Given the description of an element on the screen output the (x, y) to click on. 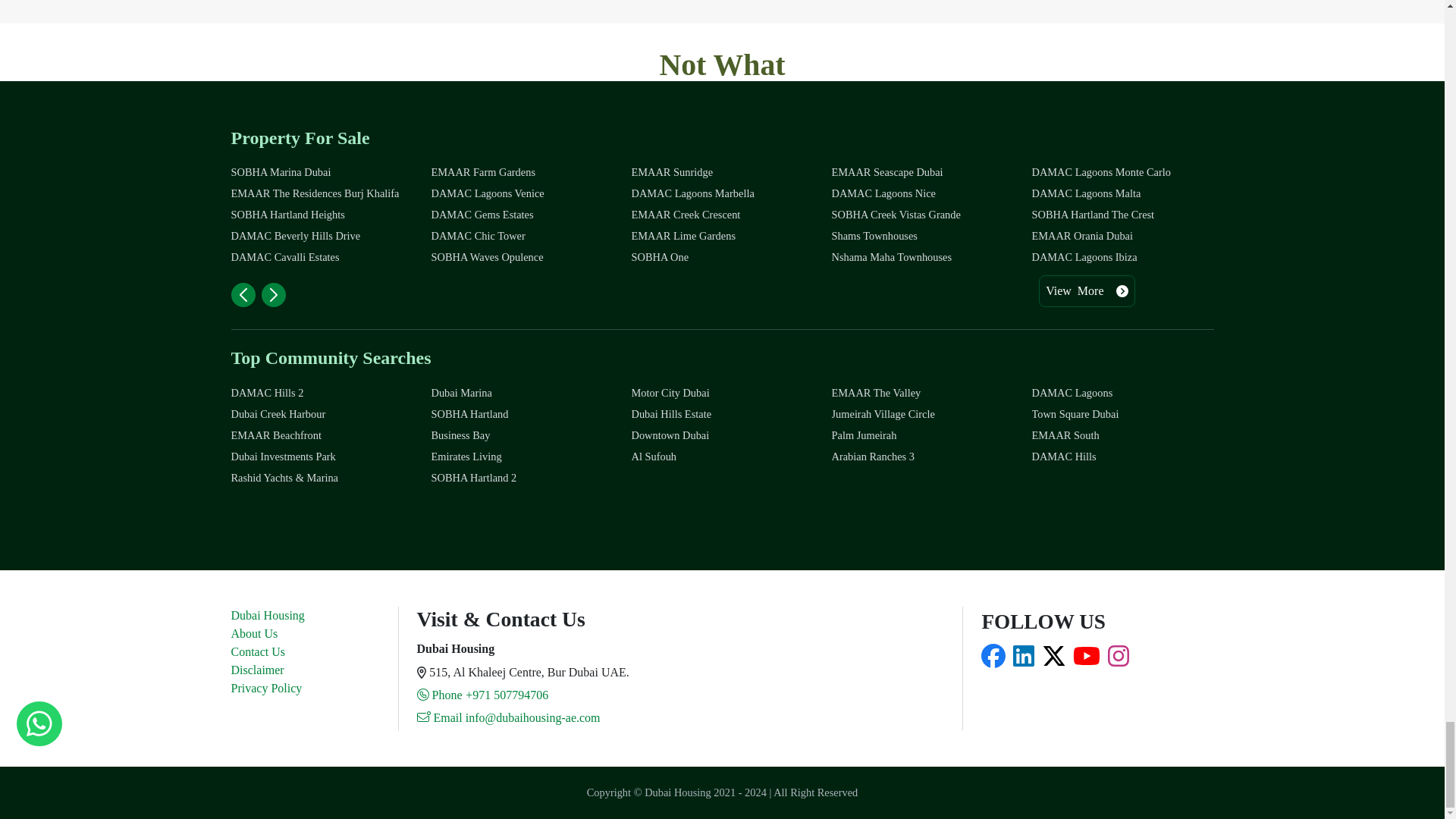
VIEW ALL PROPERTIES (722, 172)
EMAAR Sunridge (721, 172)
SOBHA Marina Dubai (321, 172)
DAMAC Lagoons Monte Carlo (1121, 172)
EMAAR Seascape Dubai (922, 172)
EMAAR Farm Gardens (521, 172)
